Given the description of an element on the screen output the (x, y) to click on. 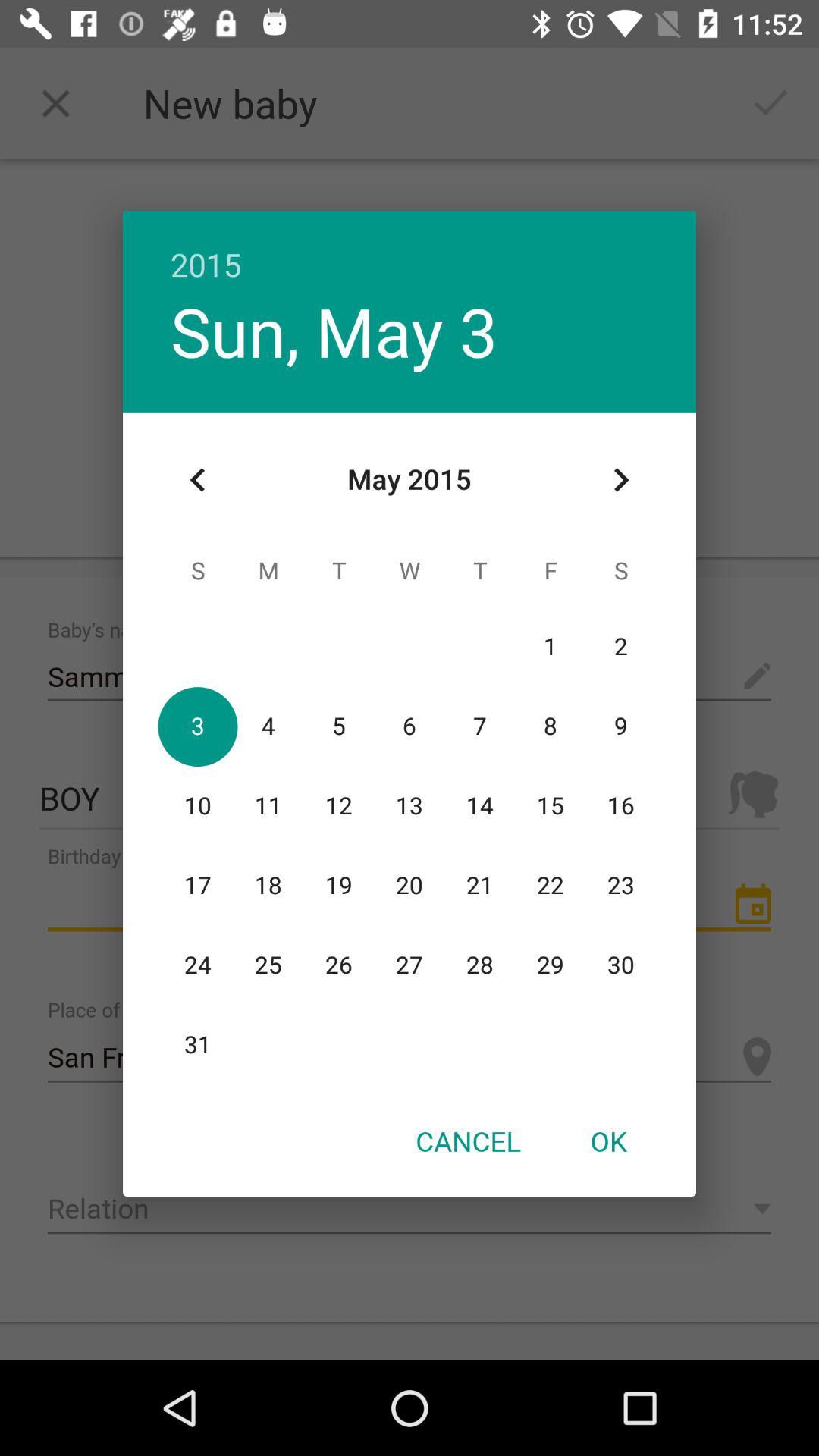
swipe until the sun, may 3 icon (333, 331)
